Given the description of an element on the screen output the (x, y) to click on. 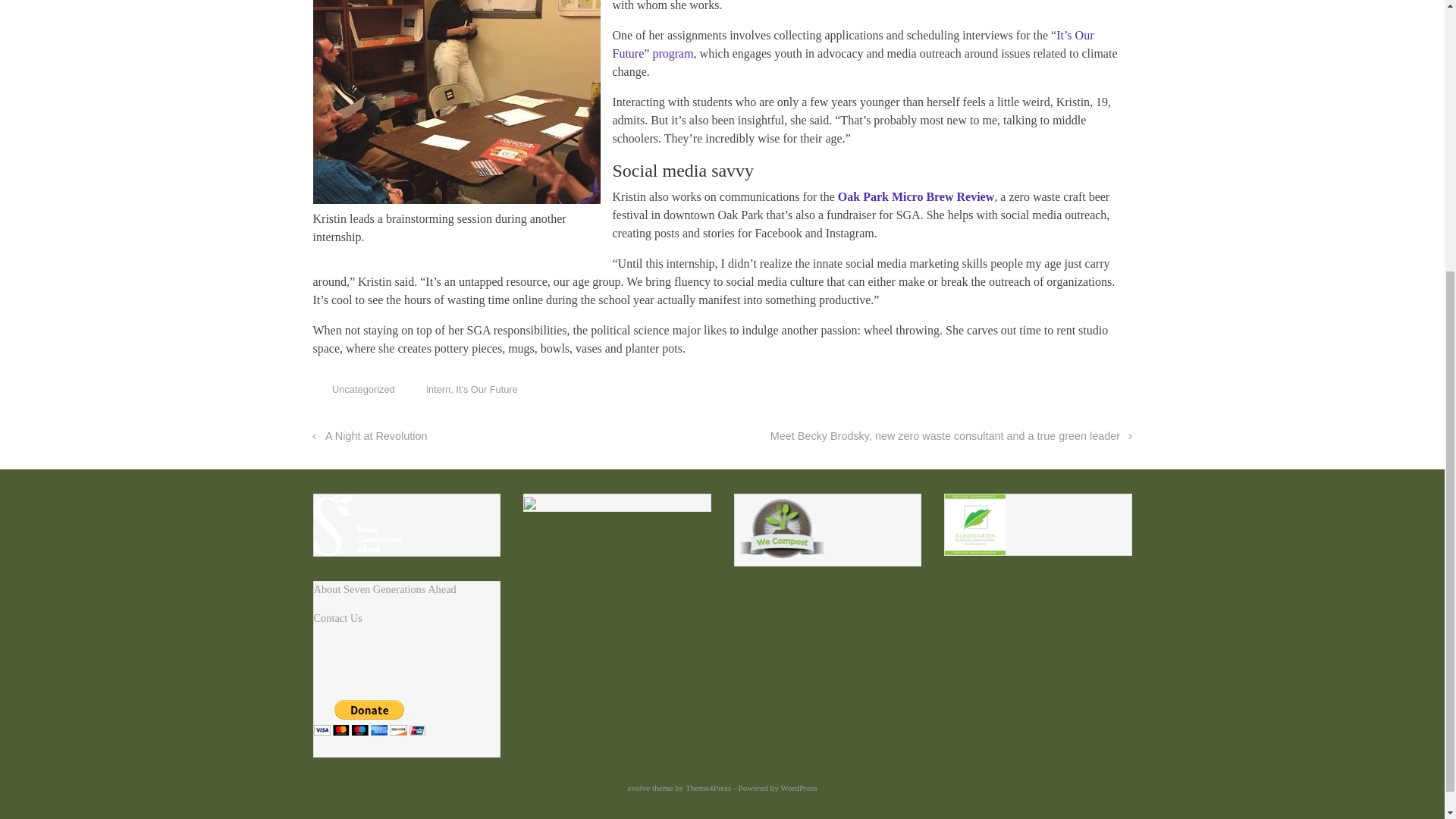
A Night at Revolution (369, 435)
Uncategorized (362, 389)
intern (437, 389)
About Seven Generations Ahead (385, 589)
Oak Park Micro Brew Review (916, 196)
It's Our Future (485, 389)
PayPal - The safer, easier way to pay online! (369, 717)
